Given the description of an element on the screen output the (x, y) to click on. 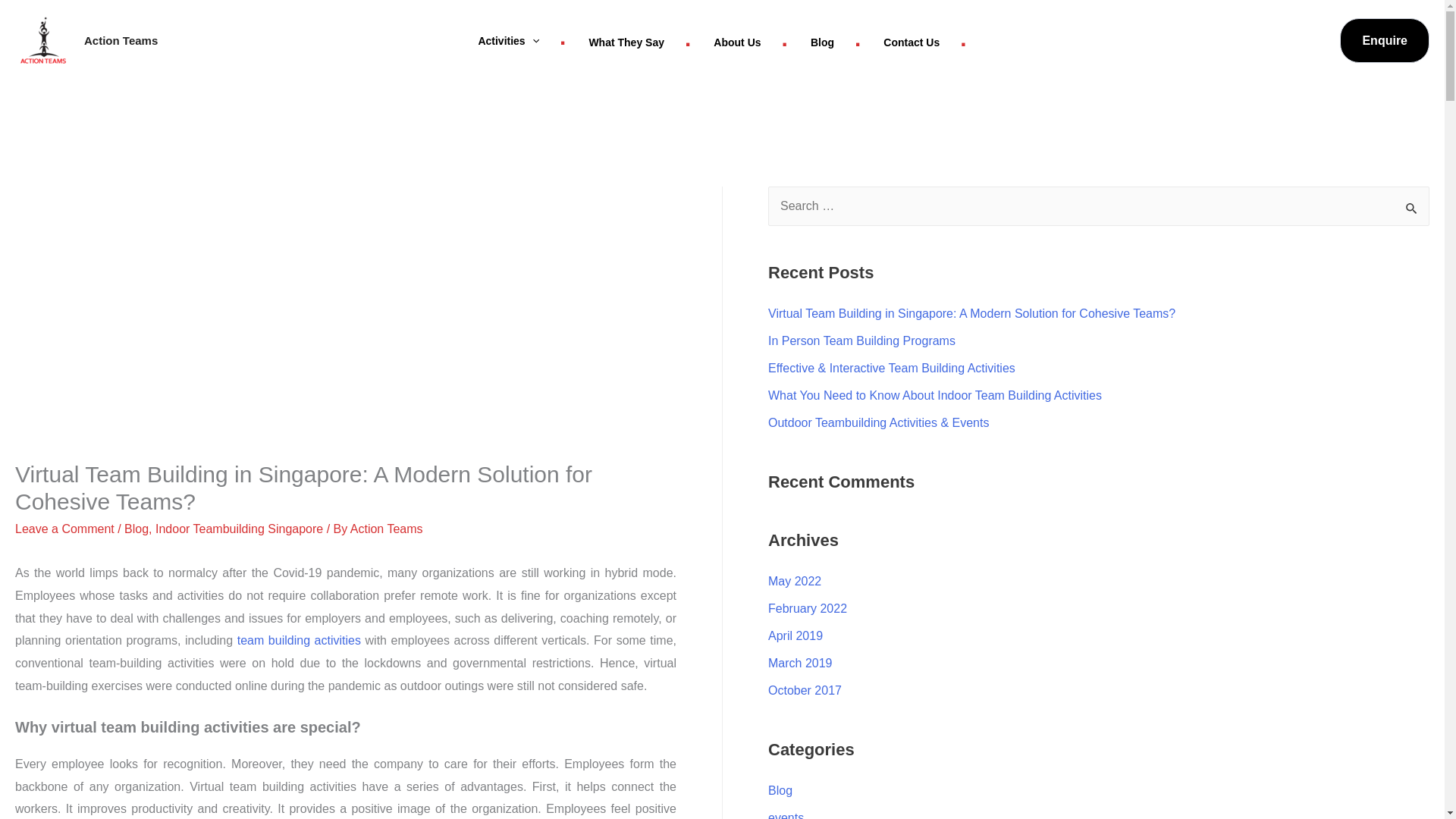
View all posts by Action Teams (386, 528)
Action Teams (120, 39)
Activities (520, 39)
Blog (835, 40)
What They Say (638, 40)
Blog (135, 528)
About Us (750, 40)
What You Need to Know About Indoor Team Building Activities (935, 395)
In Person Team Building Programs (861, 340)
Leave a Comment (64, 528)
Action Teams (386, 528)
team building activities (299, 640)
Indoor Teambuilding Singapore (239, 528)
Enquire (1375, 40)
